Given the description of an element on the screen output the (x, y) to click on. 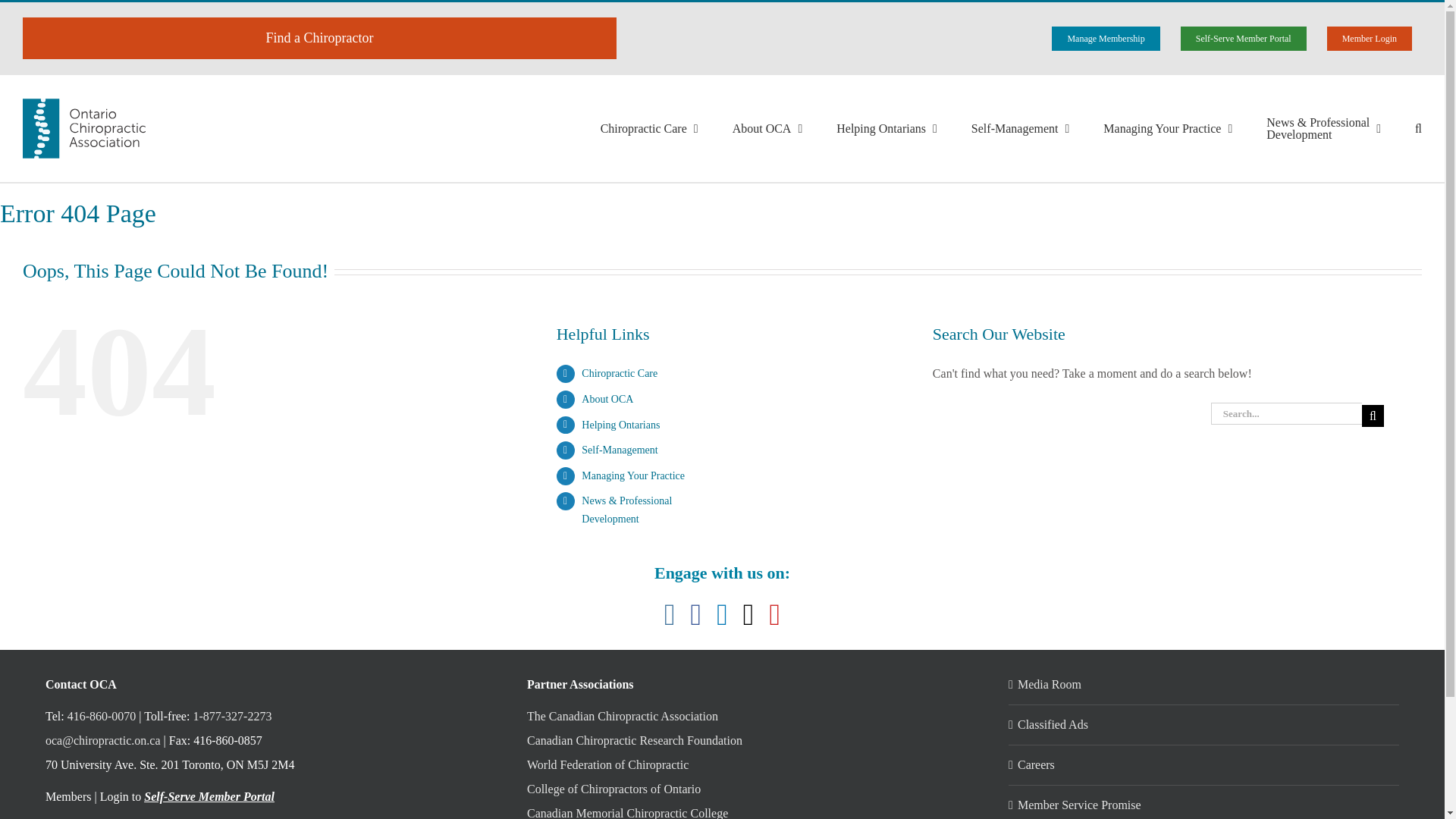
Find a Chiropractor (319, 38)
Find a Chiropractor (319, 37)
Helping Ontarians (886, 128)
Chiropractic Care (648, 128)
Member Login (1369, 37)
Self-Serve Member Portal (1243, 37)
Manage Membership (1105, 37)
